Given the description of an element on the screen output the (x, y) to click on. 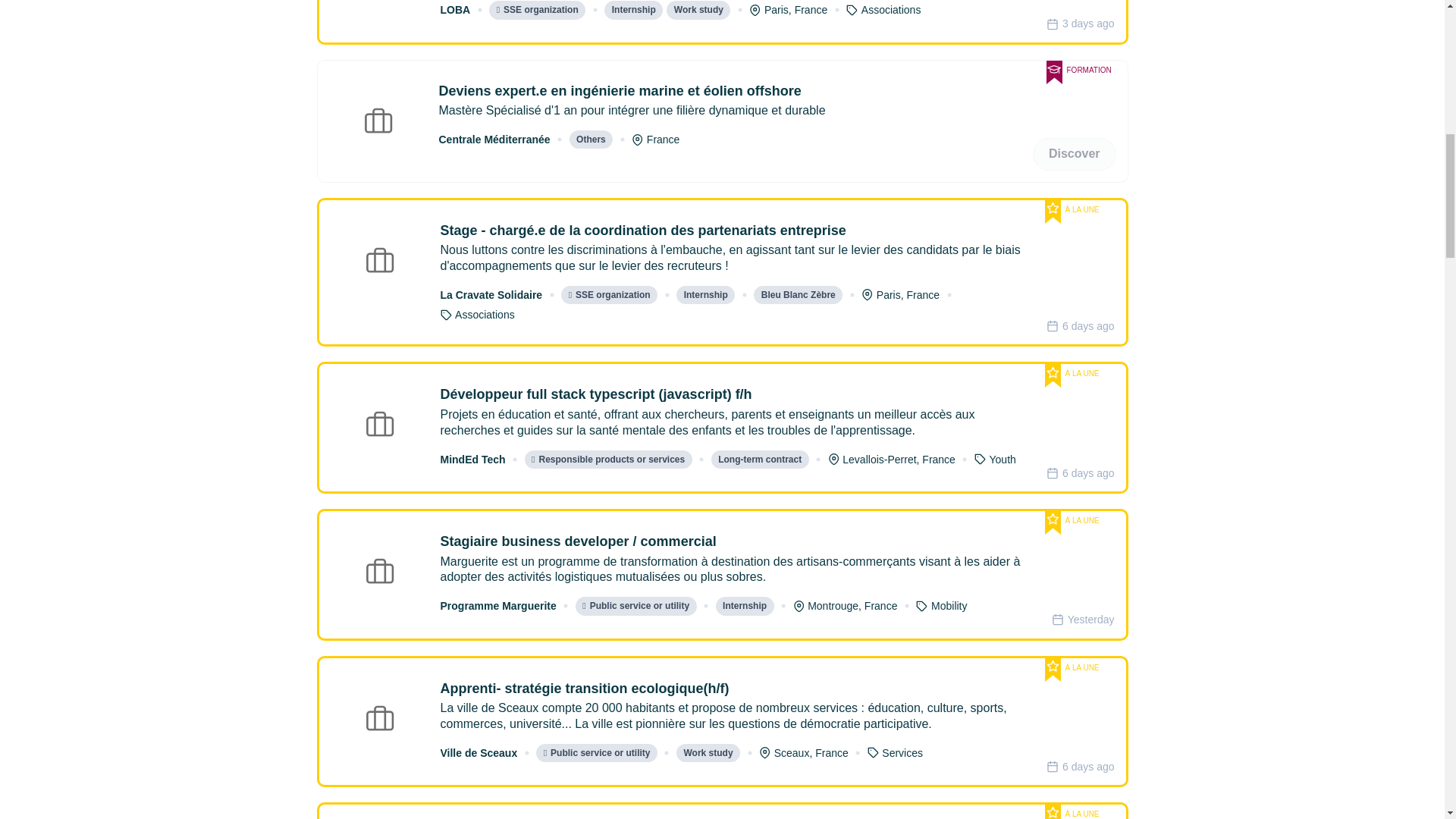
Discover (1074, 154)
